Given the description of an element on the screen output the (x, y) to click on. 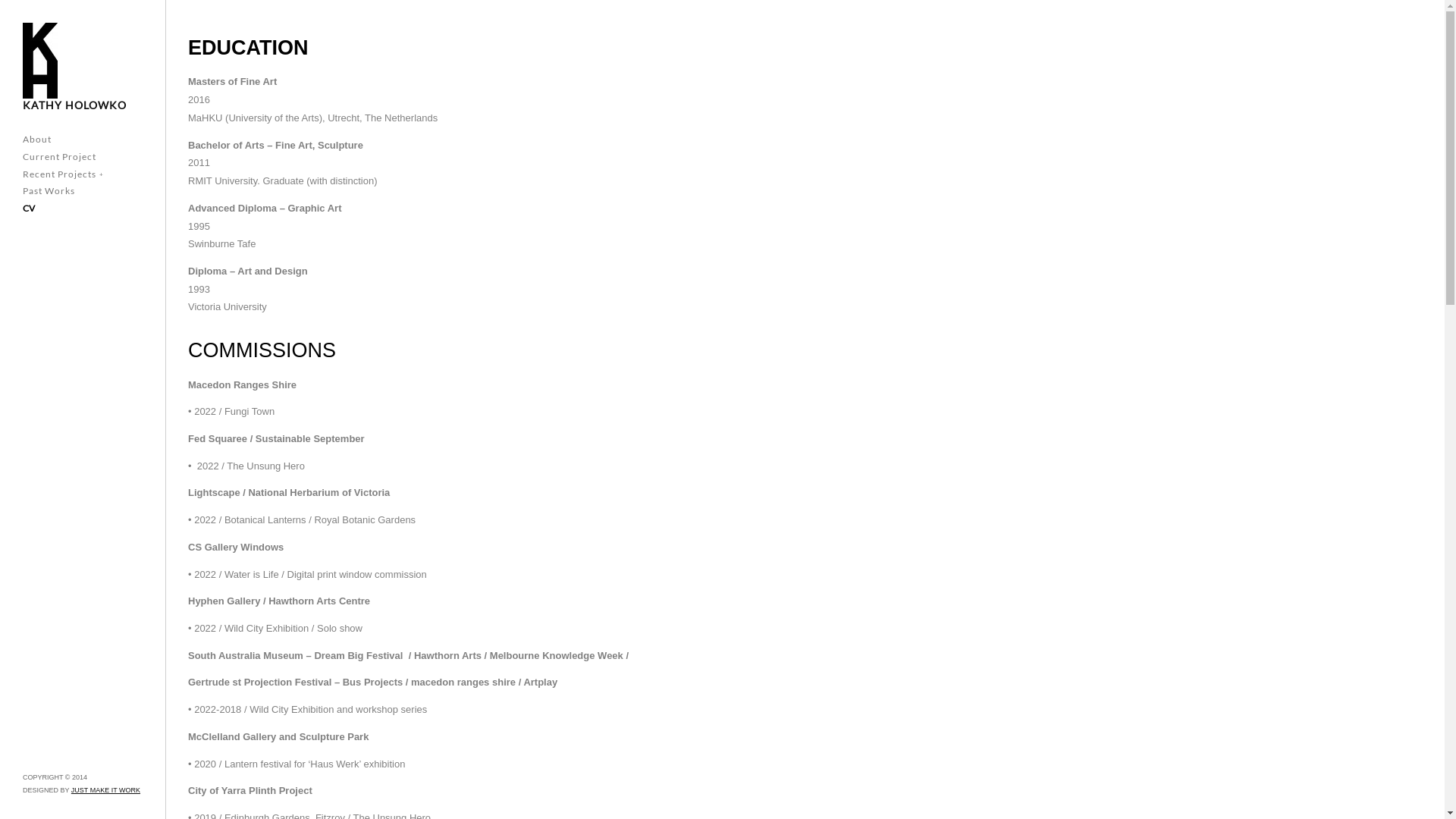
Past Works Element type: text (48, 191)
Recent Projects Element type: text (62, 174)
CV Element type: text (28, 208)
About Element type: text (36, 139)
KATHY HOLOWKO Element type: text (74, 104)
JUST MAKE IT WORK Element type: text (105, 789)
Current Project Element type: text (59, 157)
